Given the description of an element on the screen output the (x, y) to click on. 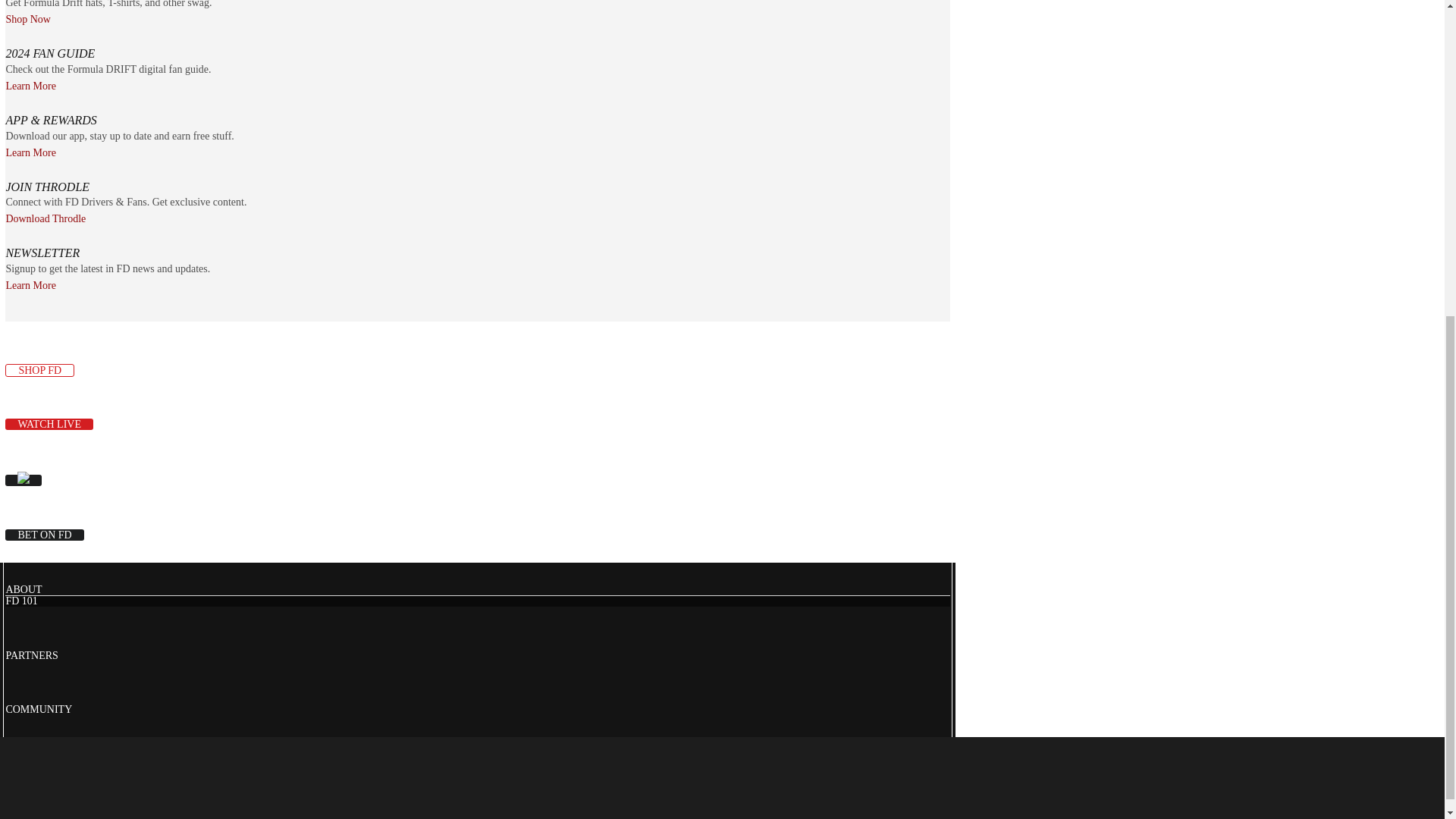
PARTNERS (31, 655)
Learn More (30, 285)
Download Throdle (45, 218)
Learn More (30, 86)
BET ON FD (43, 534)
SHOP FD (39, 369)
Shop Now (27, 19)
Learn More (30, 152)
WATCH LIVE (49, 423)
ABOUT (23, 589)
